Given the description of an element on the screen output the (x, y) to click on. 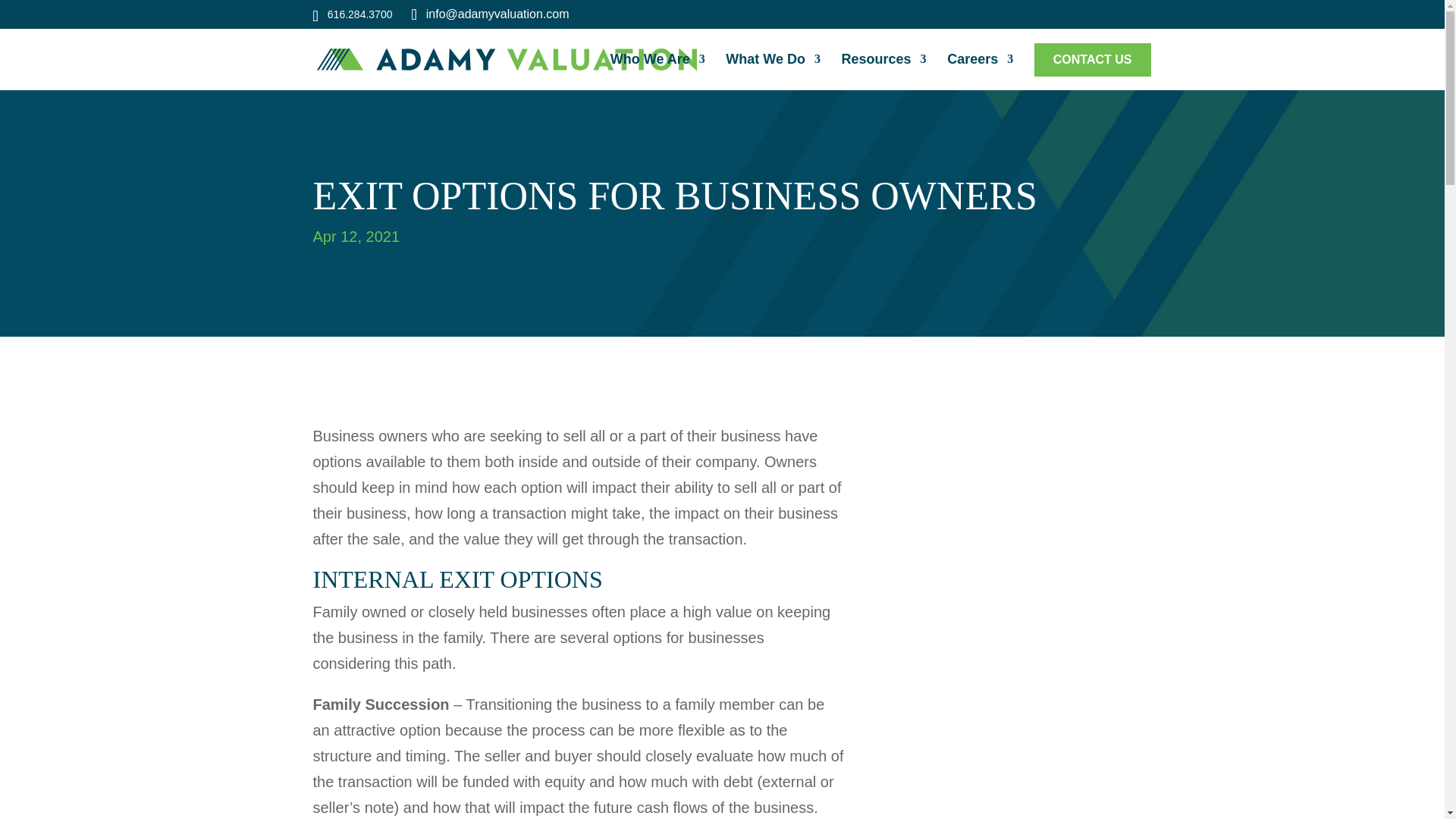
Careers (980, 71)
Resources (883, 71)
CONTACT US (1092, 72)
What We Do (773, 71)
Who We Are (657, 71)
616.284.3700 (360, 13)
